Given the description of an element on the screen output the (x, y) to click on. 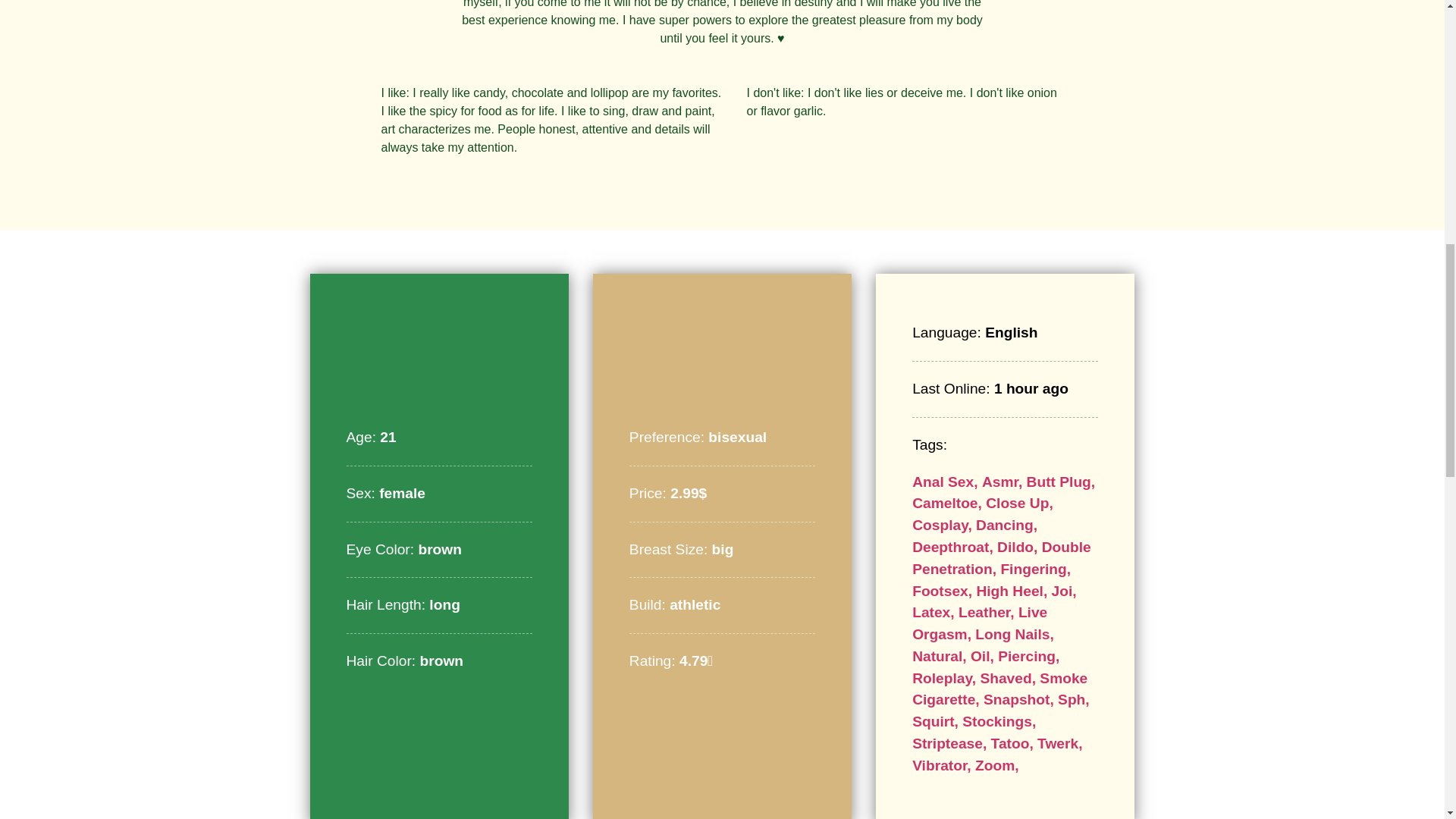
Anal Sex (946, 481)
Asmr (1003, 481)
Butt Plug (1061, 481)
